Given the description of an element on the screen output the (x, y) to click on. 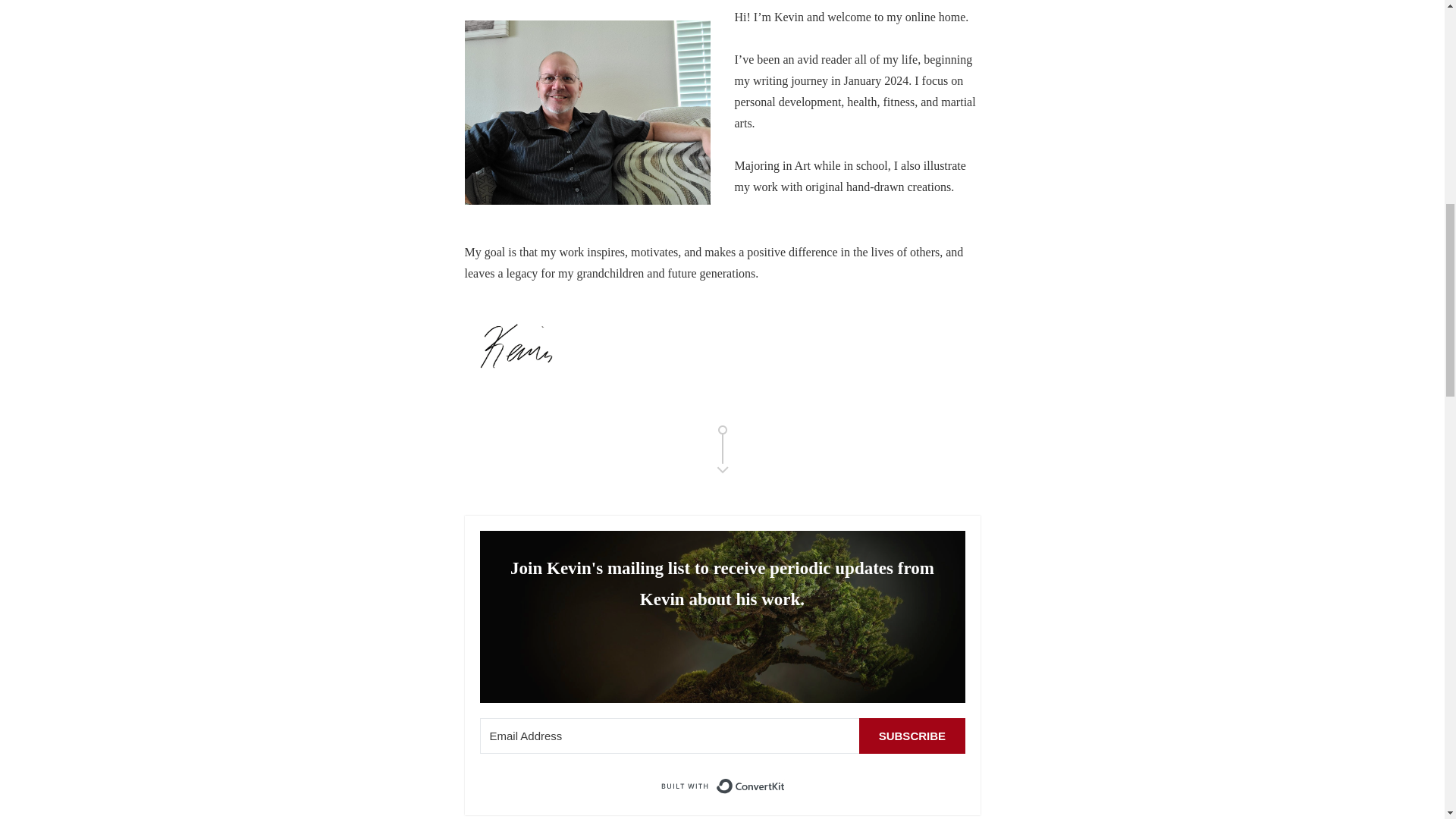
SUBSCRIBE (911, 735)
Built with ConvertKit (722, 786)
